Given the description of an element on the screen output the (x, y) to click on. 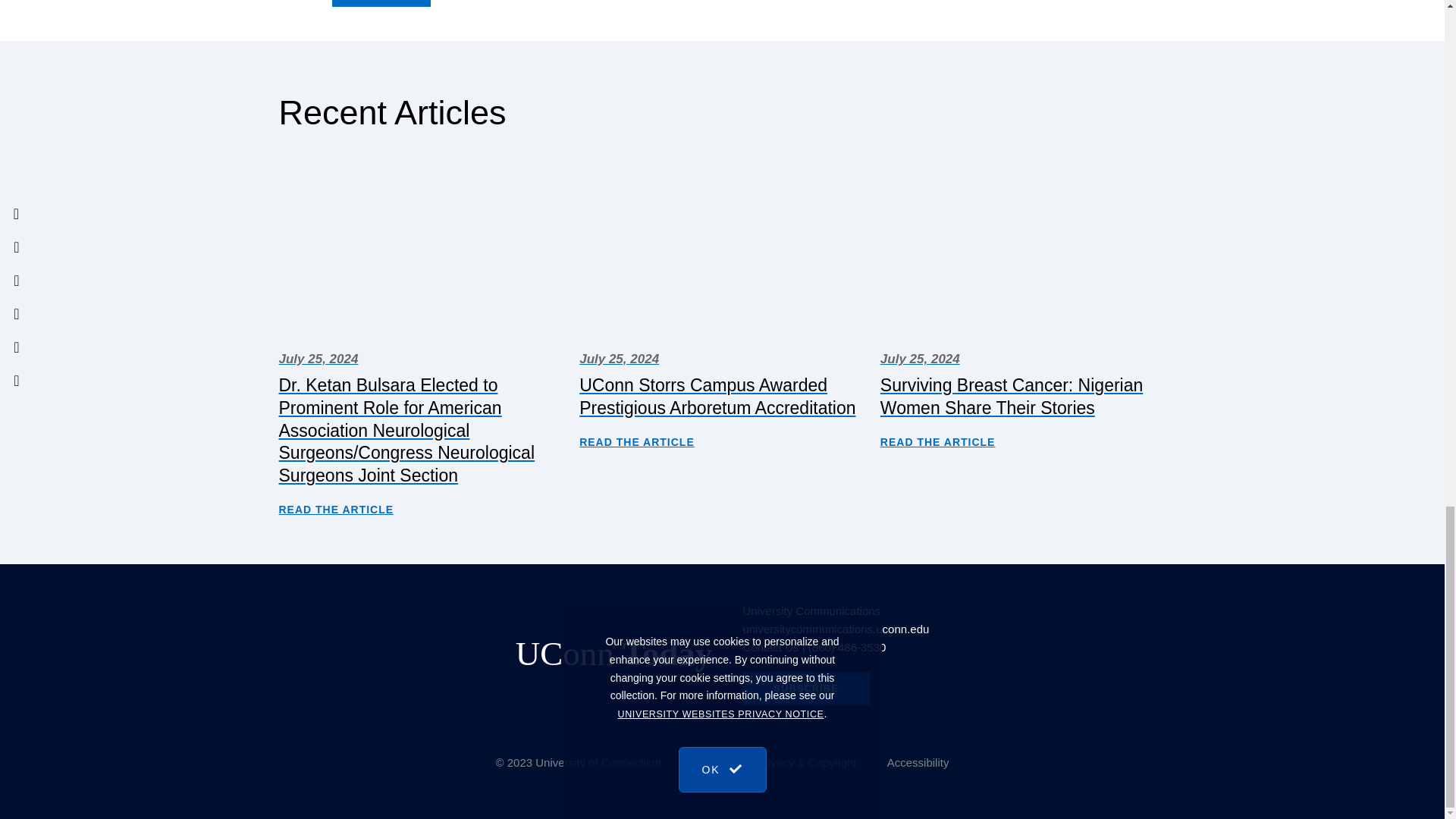
UConn Today (614, 652)
